Given the description of an element on the screen output the (x, y) to click on. 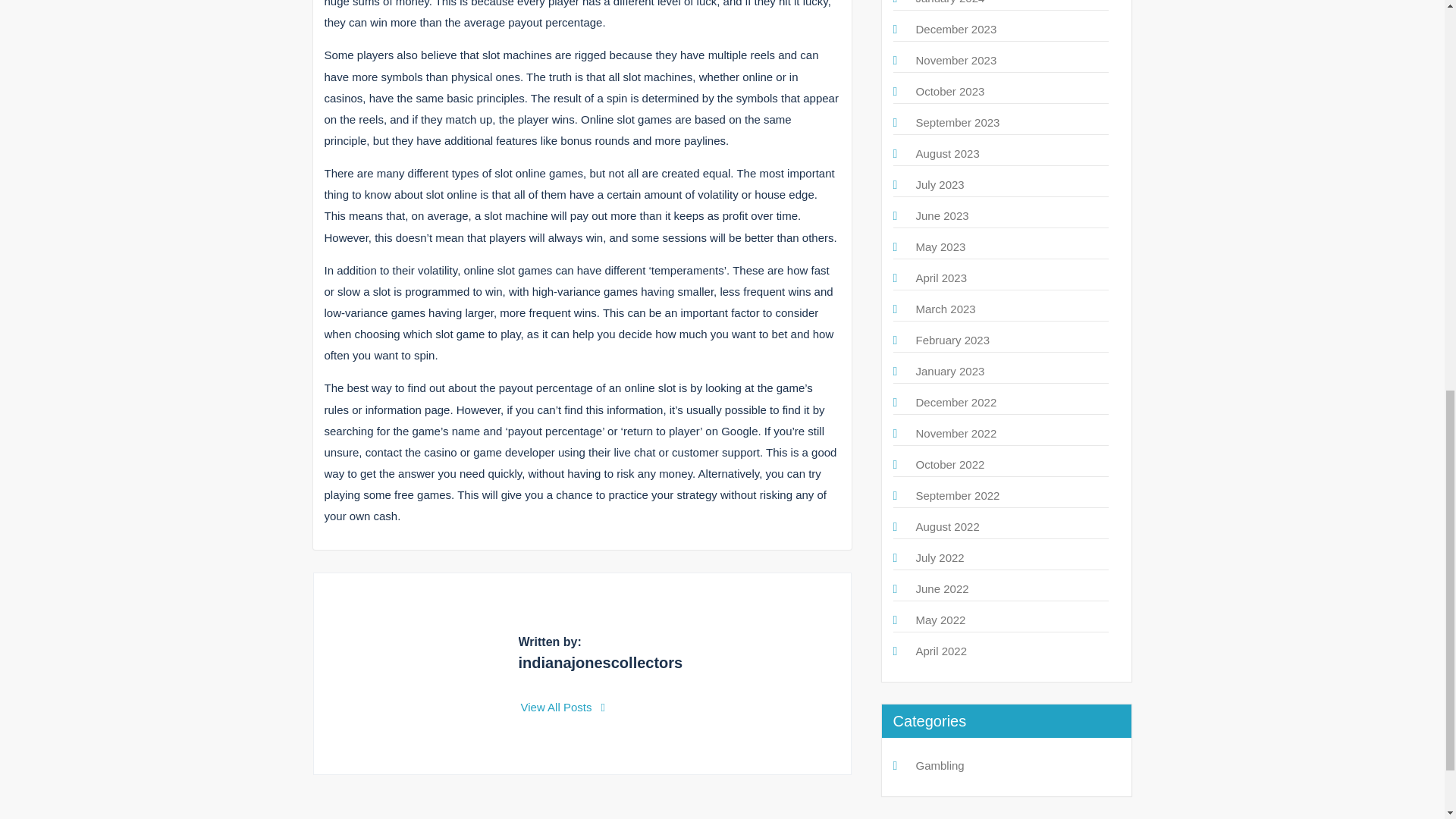
May 2022 (940, 619)
December 2022 (956, 401)
September 2022 (957, 495)
June 2023 (942, 215)
June 2022 (942, 588)
View All Posts (562, 707)
January 2023 (950, 370)
August 2023 (947, 153)
July 2023 (939, 184)
April 2023 (941, 277)
